Given the description of an element on the screen output the (x, y) to click on. 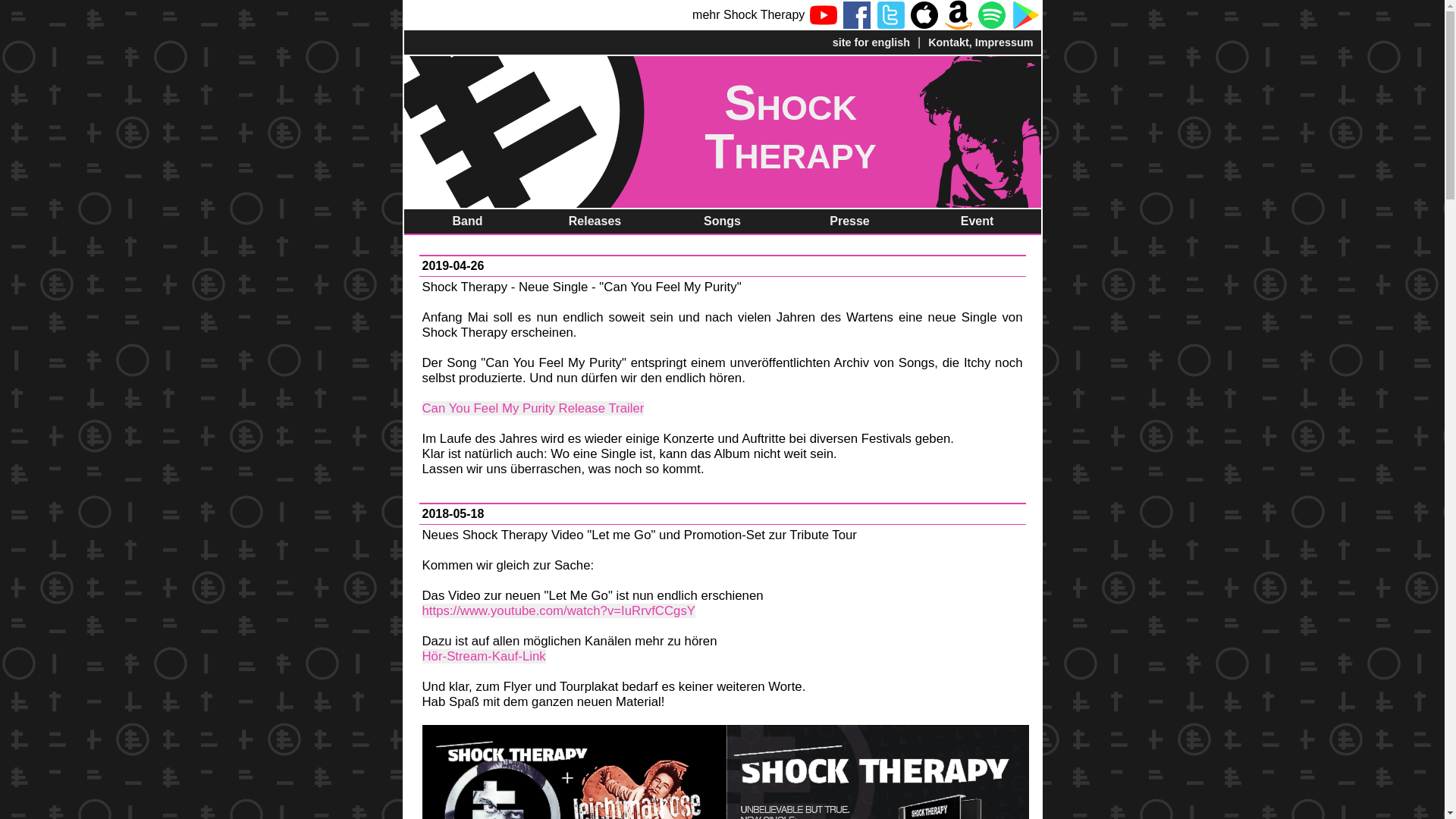
Presse Element type: text (849, 222)
Event Element type: text (976, 222)
Band Element type: text (466, 222)
Shock
Therapy Element type: text (721, 131)
Kontakt, Impressum Element type: text (980, 42)
Can You Feel My Purity Release Trailer Element type: text (532, 408)
site for english Element type: text (871, 42)
https://www.youtube.com/watch?v=IuRrvfCCgsY Element type: text (557, 610)
Releases Element type: text (594, 222)
Songs Element type: text (721, 222)
